Given the description of an element on the screen output the (x, y) to click on. 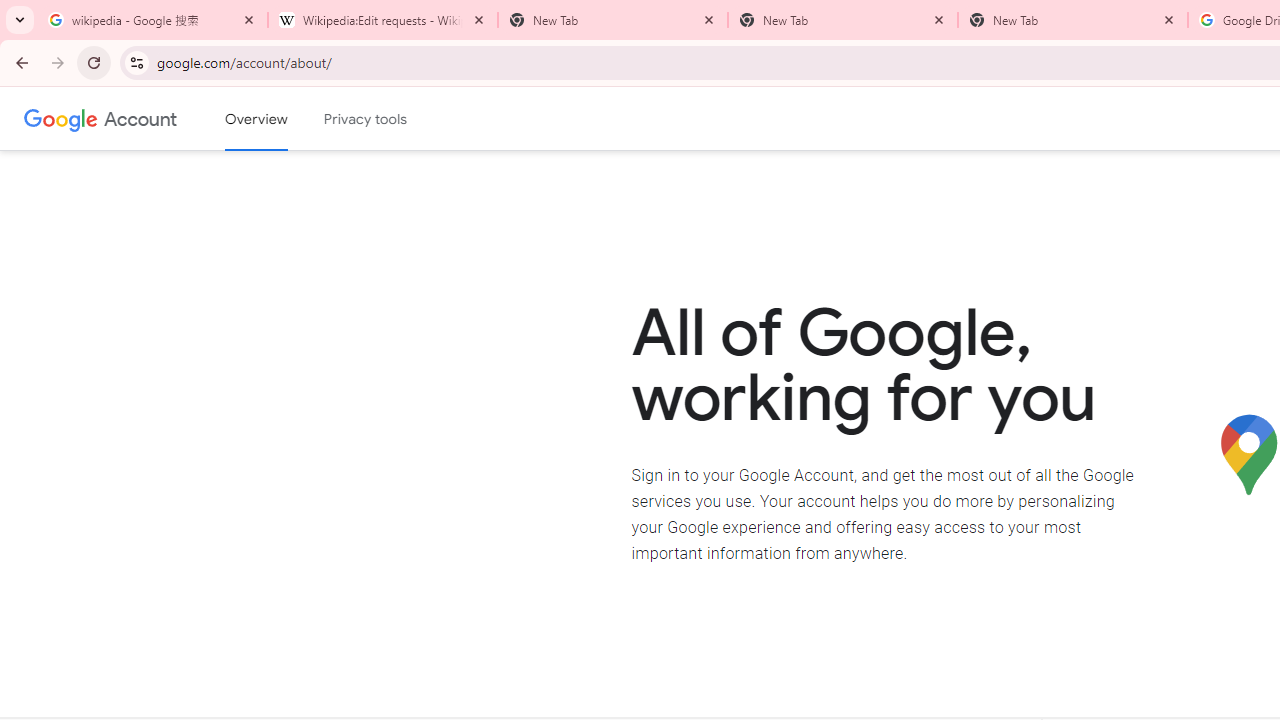
New Tab (1072, 20)
Google logo (61, 118)
Google Account overview (256, 119)
Skip to Content (285, 115)
Wikipedia:Edit requests - Wikipedia (382, 20)
Privacy tools (365, 119)
Google Account (140, 118)
New Tab (842, 20)
